Given the description of an element on the screen output the (x, y) to click on. 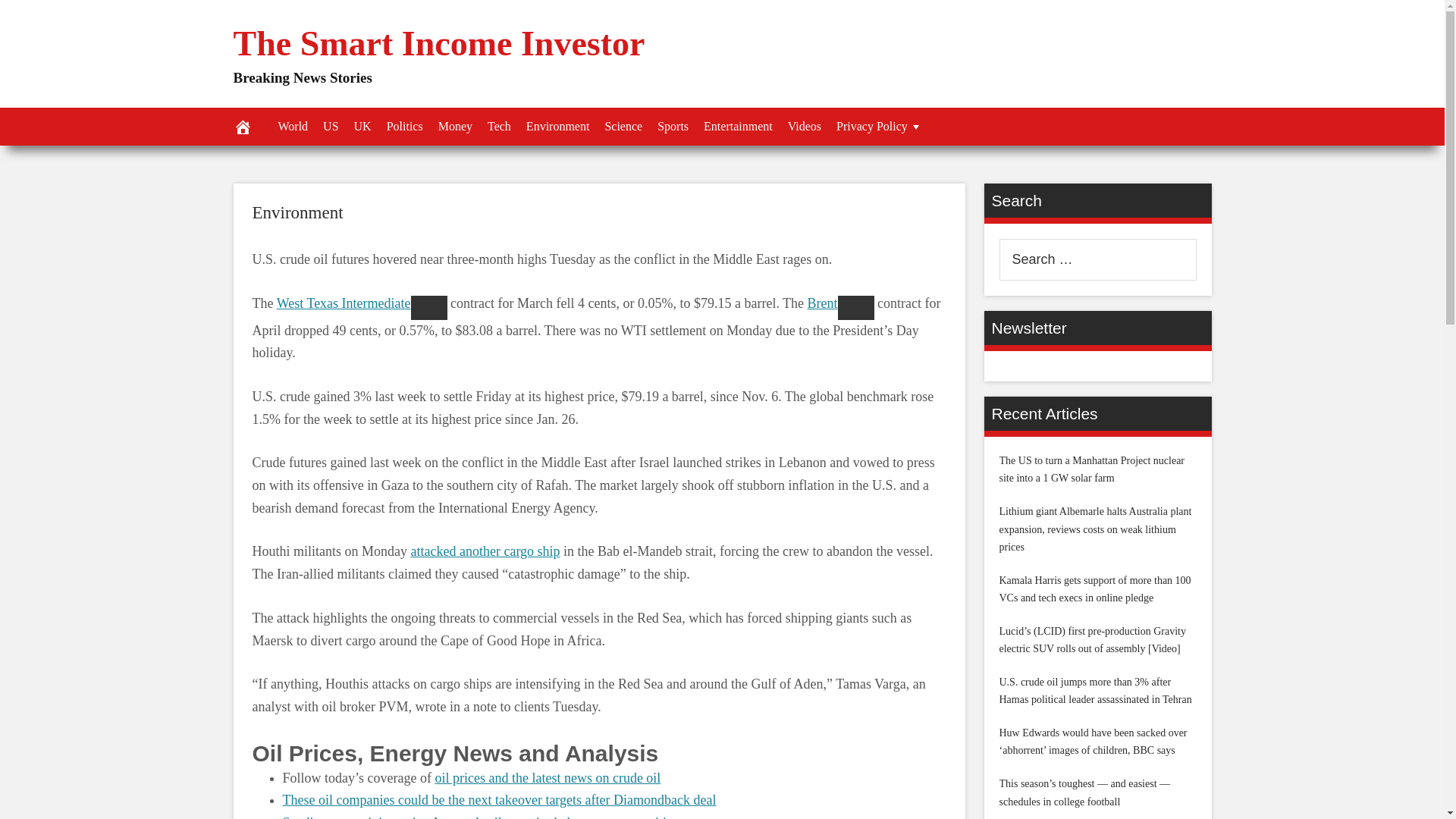
Tech (499, 126)
The Smart Income Investor (438, 43)
Environment (557, 126)
Videos (804, 126)
World (292, 126)
Money (455, 126)
Sports (672, 126)
Entertainment (737, 126)
